Given the description of an element on the screen output the (x, y) to click on. 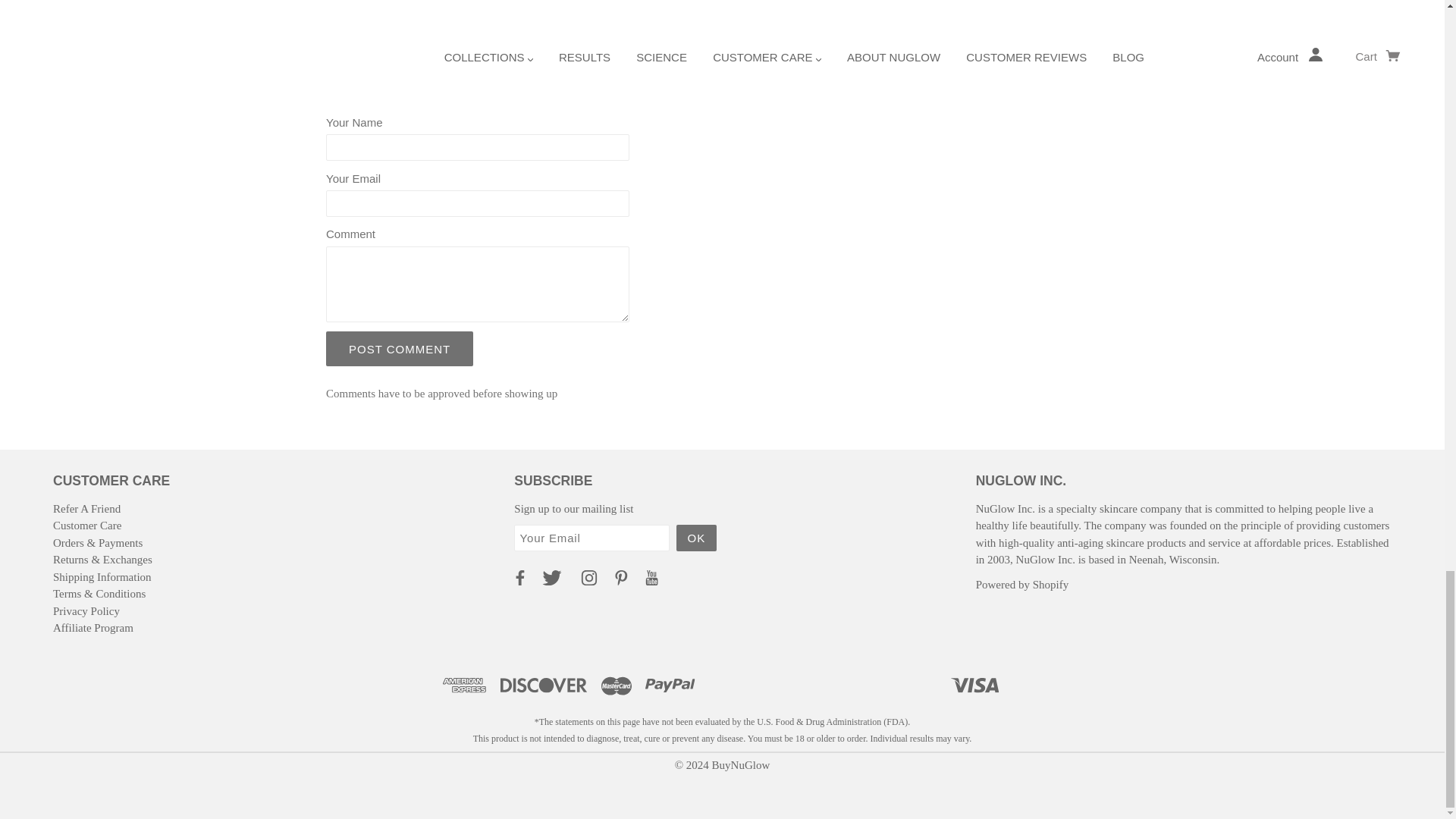
Post Comment (399, 348)
OK (697, 537)
Buy NuGlow Skincare now! (860, 9)
